Given the description of an element on the screen output the (x, y) to click on. 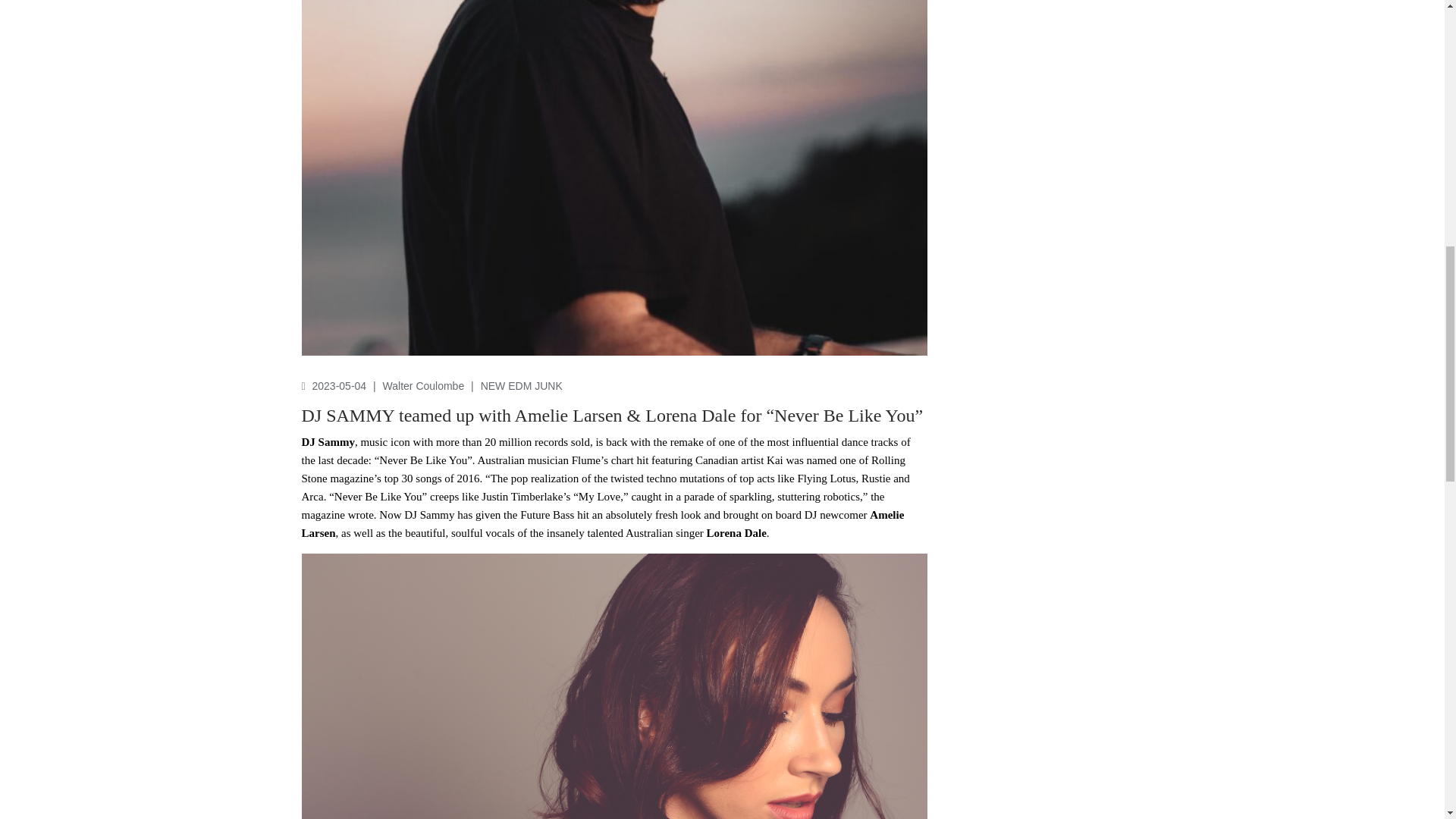
NEW EDM JUNK (521, 385)
2023-05-04 (341, 385)
Advertisement (1042, 209)
Walter Coulombe (424, 385)
